Given the description of an element on the screen output the (x, y) to click on. 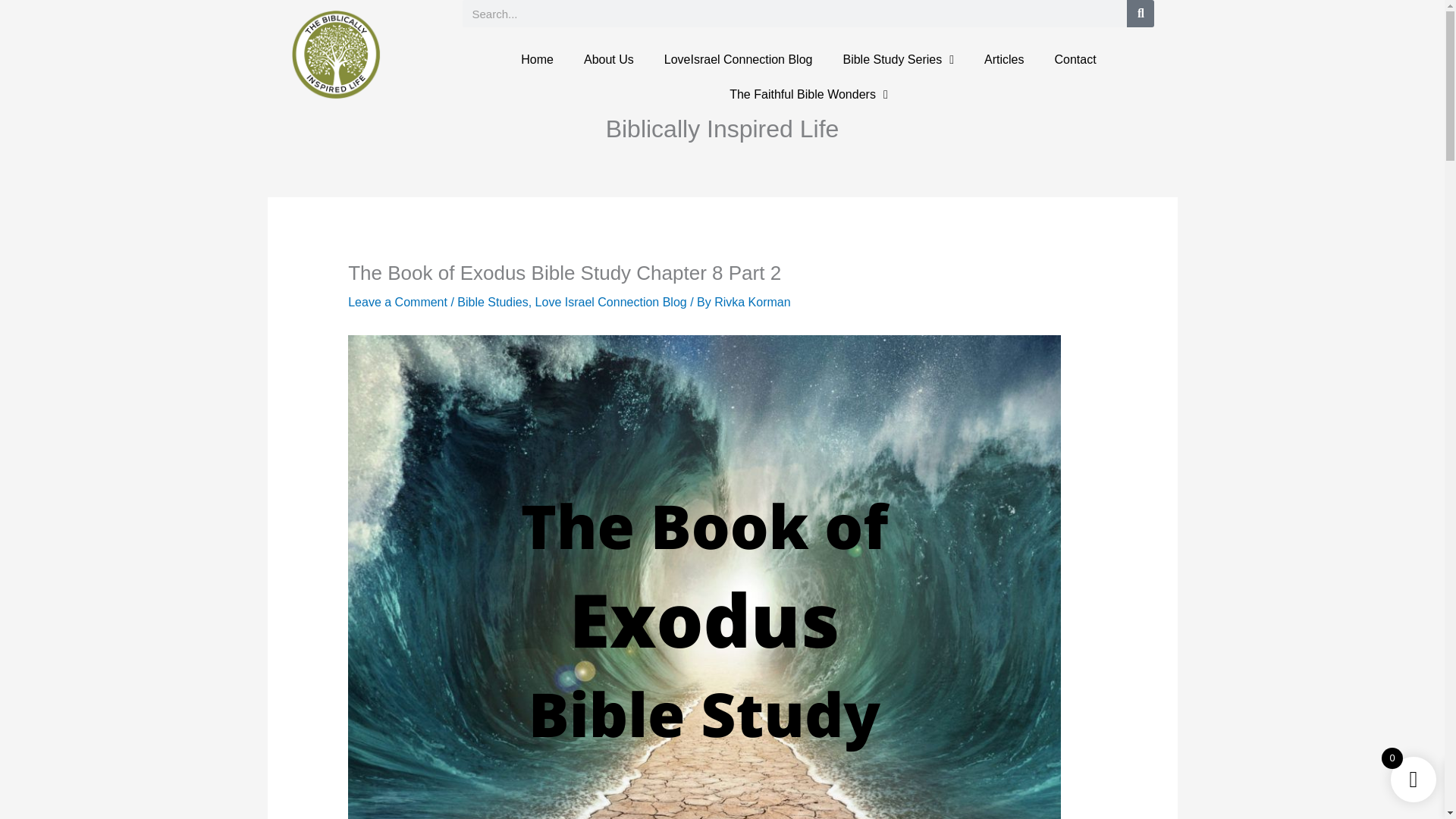
Home (537, 59)
Biblically Inspired Life (722, 128)
The Faithful Bible Wonders (808, 94)
Articles (1004, 59)
Love Israel Connection Blog (611, 301)
About Us (609, 59)
Search (1140, 13)
Rivka Korman (752, 301)
View all posts by Rivka Korman (752, 301)
Contact (1074, 59)
Bible Study Series (898, 59)
Leave a Comment (396, 301)
Bible Studies (492, 301)
LoveIsrael Connection Blog (738, 59)
